Given the description of an element on the screen output the (x, y) to click on. 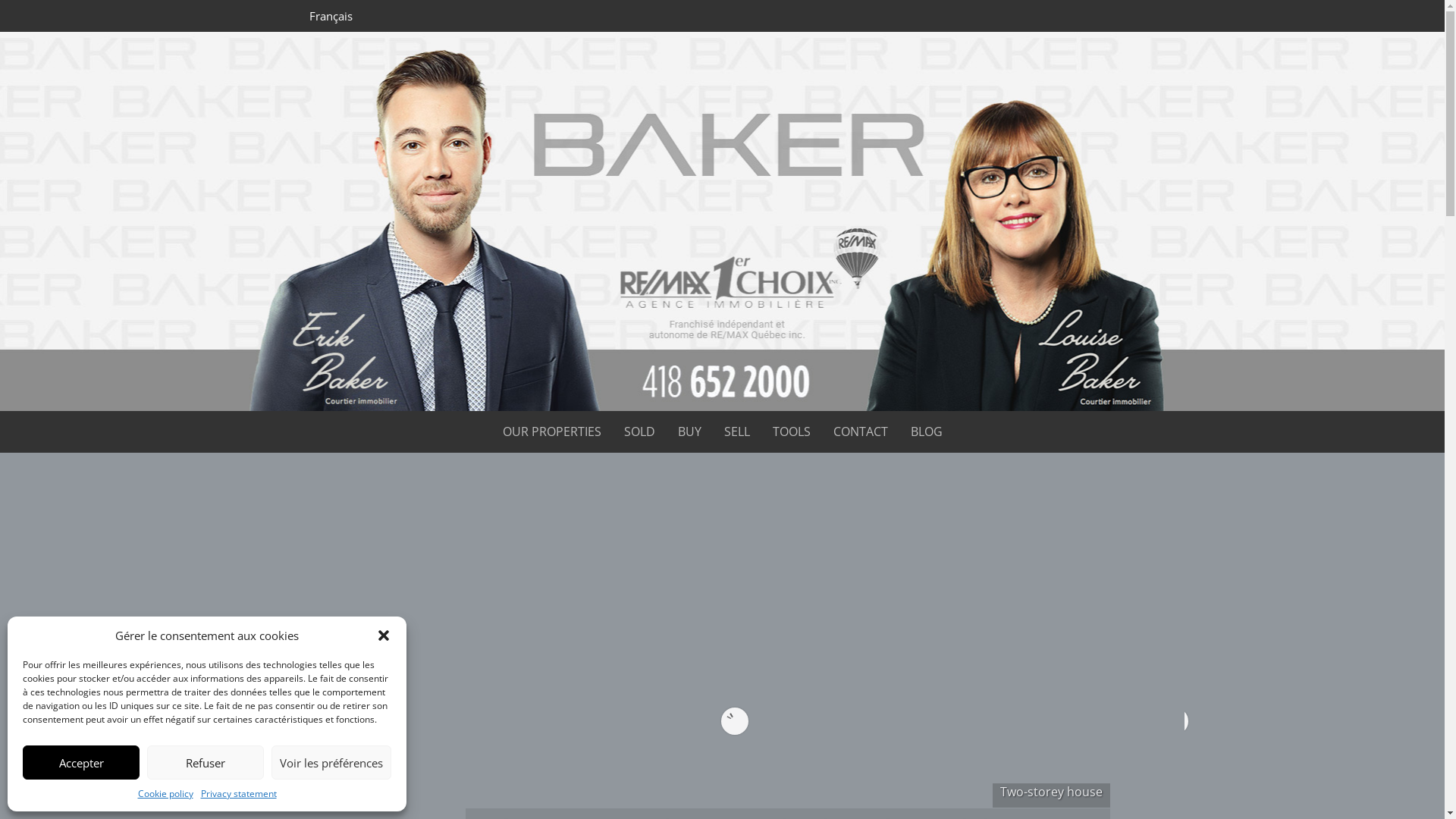
Cookie policy Element type: text (165, 793)
Accepter Element type: text (80, 762)
TOOLS Element type: text (790, 431)
Home Element type: hover (293, 15)
CONTACT Element type: text (859, 431)
Refuser Element type: text (205, 762)
SOLD Element type: text (638, 431)
OUR PROPERTIES Element type: text (551, 431)
Privacy statement Element type: text (238, 793)
BUY Element type: text (689, 431)
BLOG Element type: text (925, 431)
SELL Element type: text (736, 431)
